Given the description of an element on the screen output the (x, y) to click on. 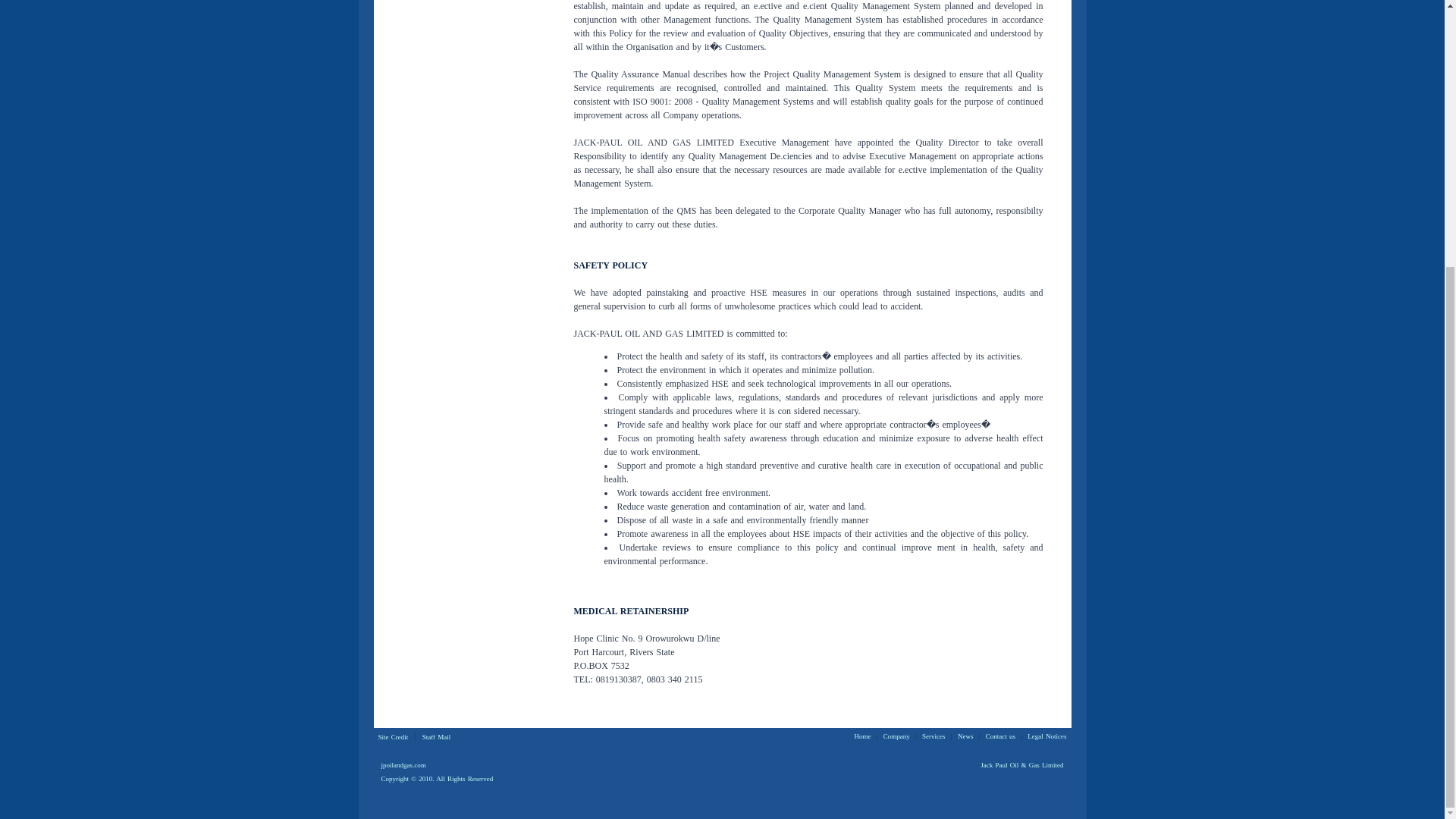
News (965, 735)
Home (861, 735)
Staff Mail (436, 736)
Legal Notices (1046, 735)
Contact us (999, 735)
Site Credit (392, 736)
Services (933, 735)
Company (896, 735)
